Given the description of an element on the screen output the (x, y) to click on. 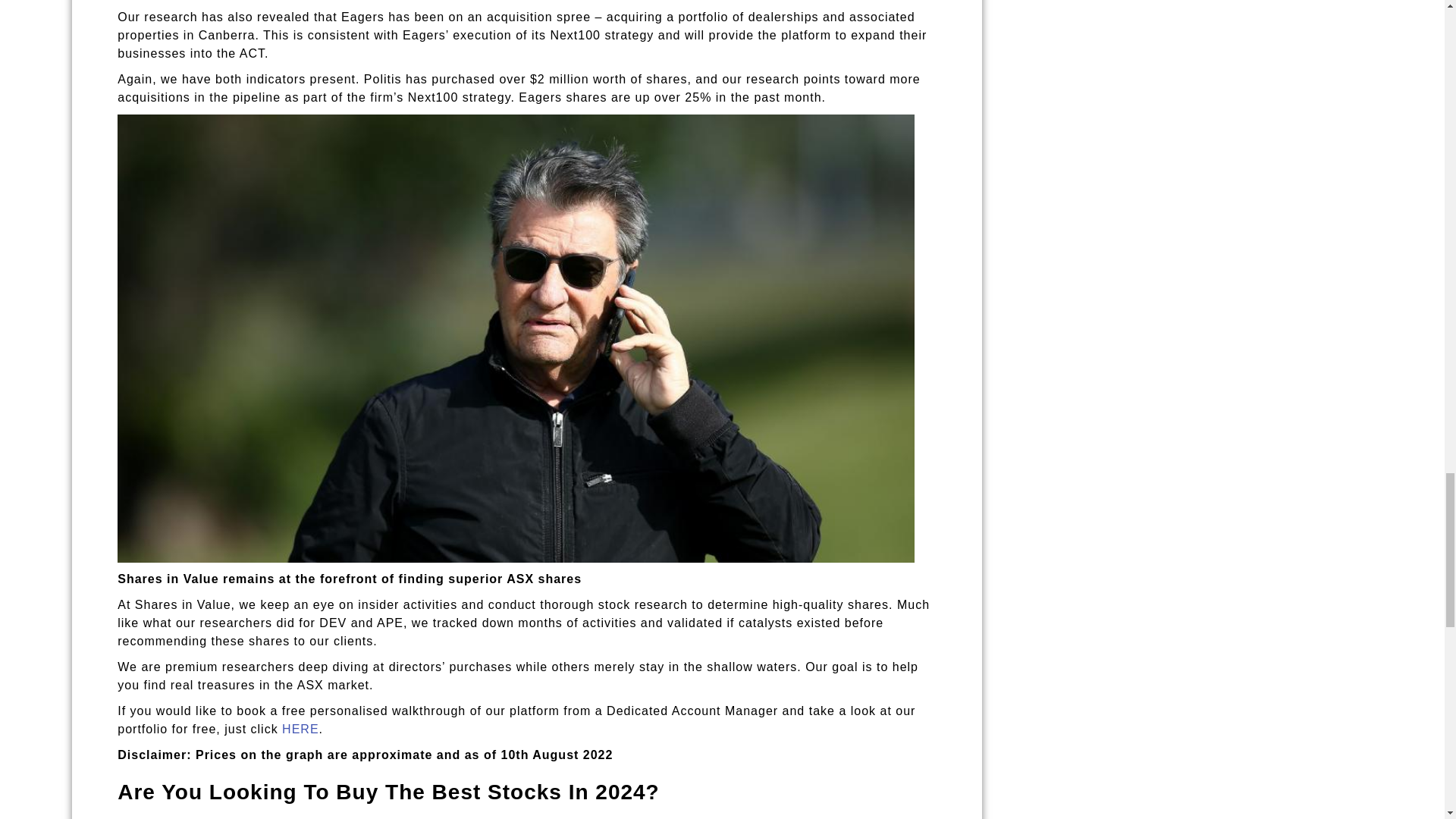
HERE (300, 728)
